Given the description of an element on the screen output the (x, y) to click on. 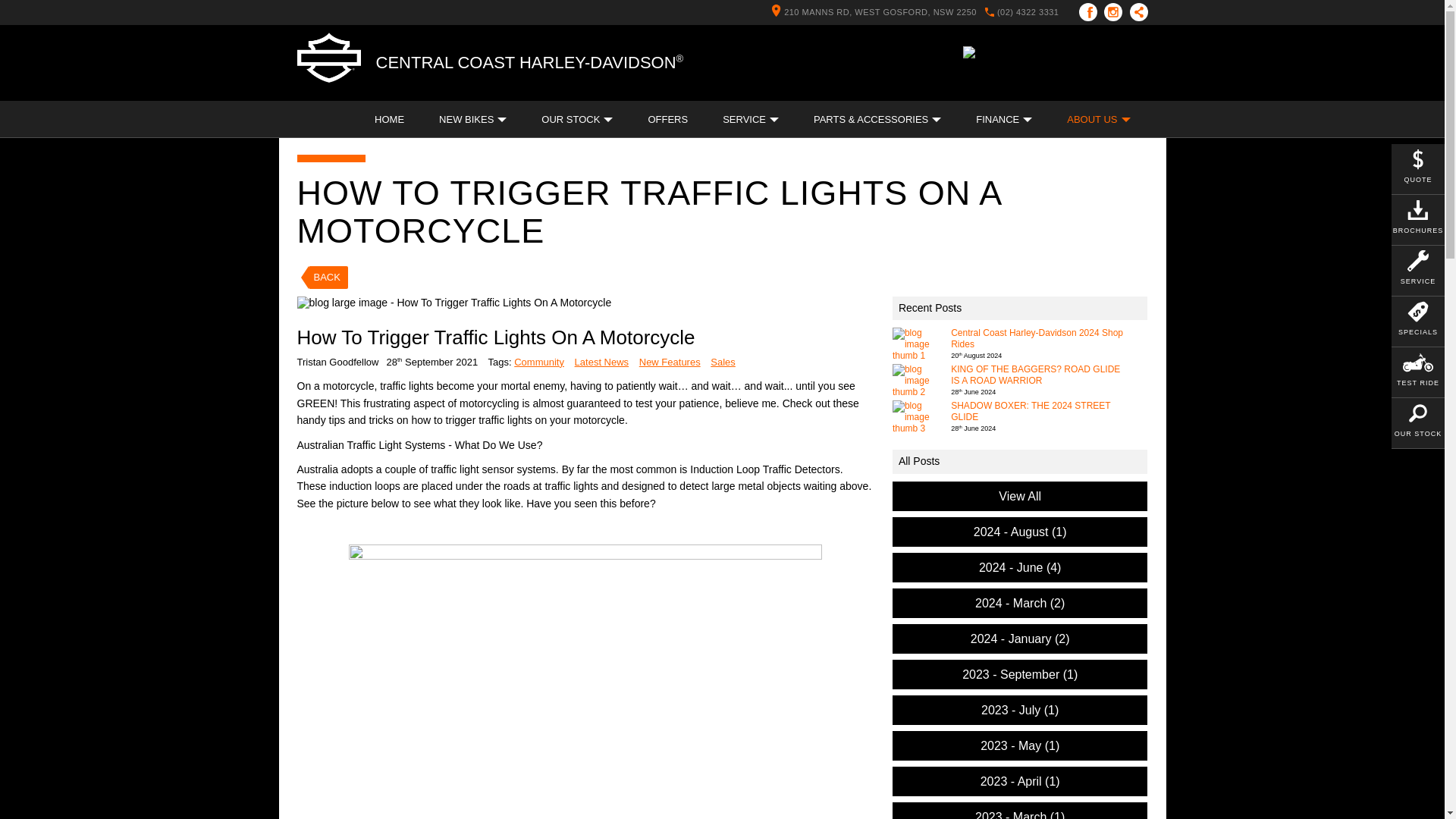
Share this page (1135, 12)
Follow us on Facebook (1090, 12)
210 MANNS RD, WEST GOSFORD, NSW 2250 (869, 11)
Follow us on Instagram (1116, 12)
NEW BIKES (473, 119)
HOME (389, 119)
2024 MOTORCYCLES (372, 82)
